Given the description of an element on the screen output the (x, y) to click on. 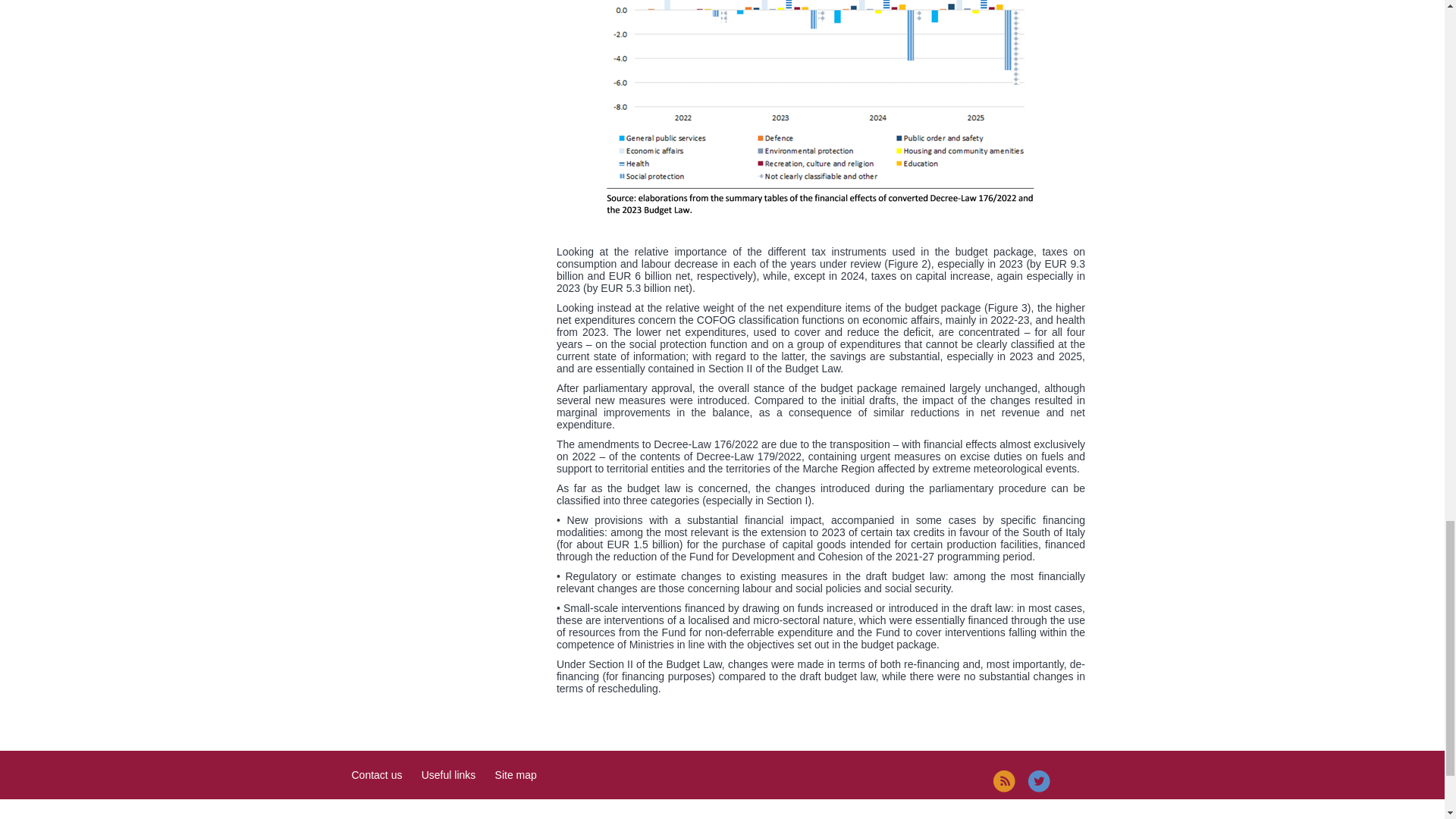
Site map (516, 775)
Contact us (377, 775)
Useful links (449, 775)
